Given the description of an element on the screen output the (x, y) to click on. 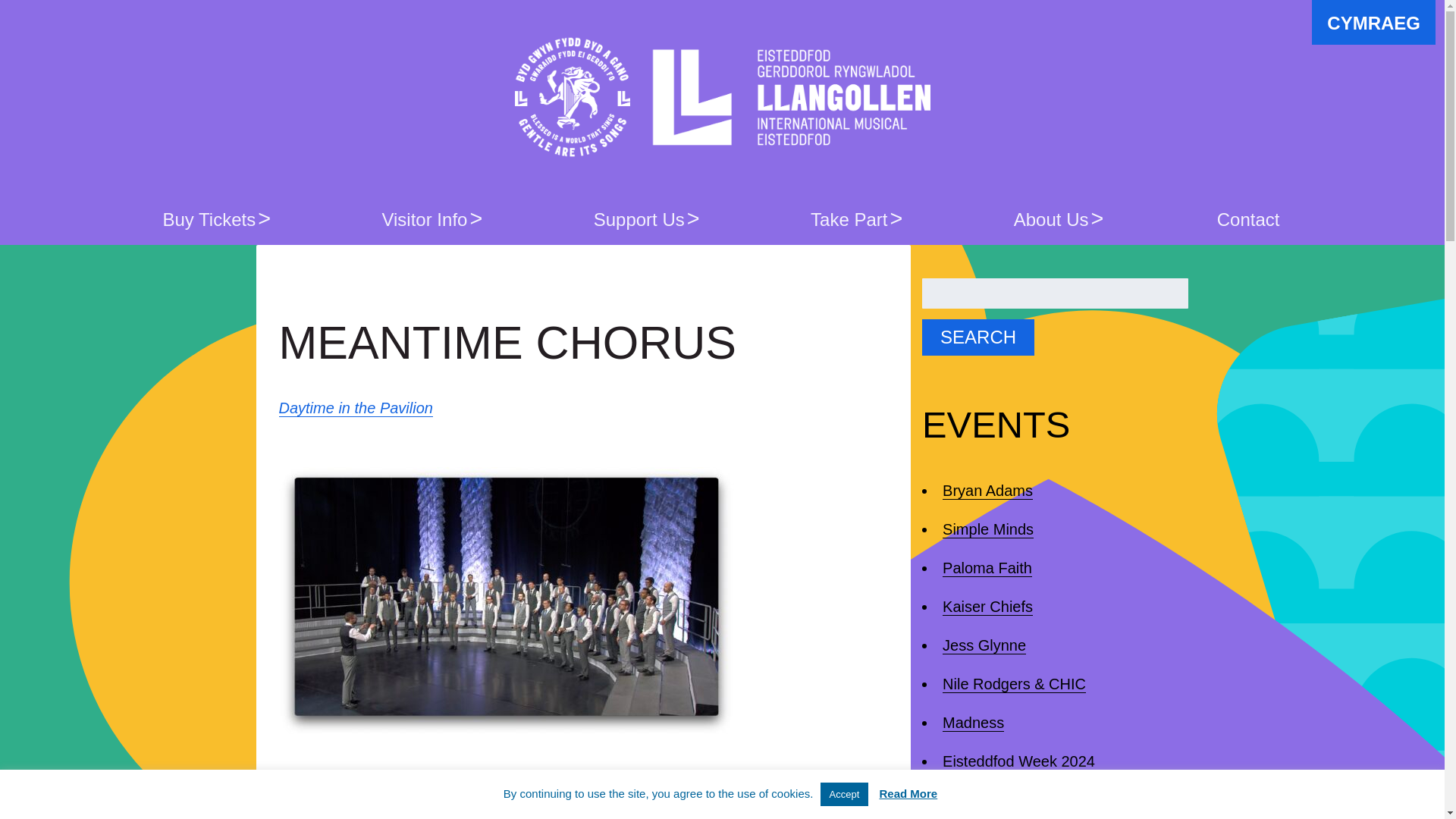
Take Part (850, 219)
Contact (1248, 219)
CYMRAEG (1373, 22)
Search (977, 337)
Search (977, 337)
Buy Tickets (210, 219)
Daytime in the Pavilion (355, 407)
About Us (1053, 219)
Support Us (640, 219)
Visitor Info (426, 219)
